Given the description of an element on the screen output the (x, y) to click on. 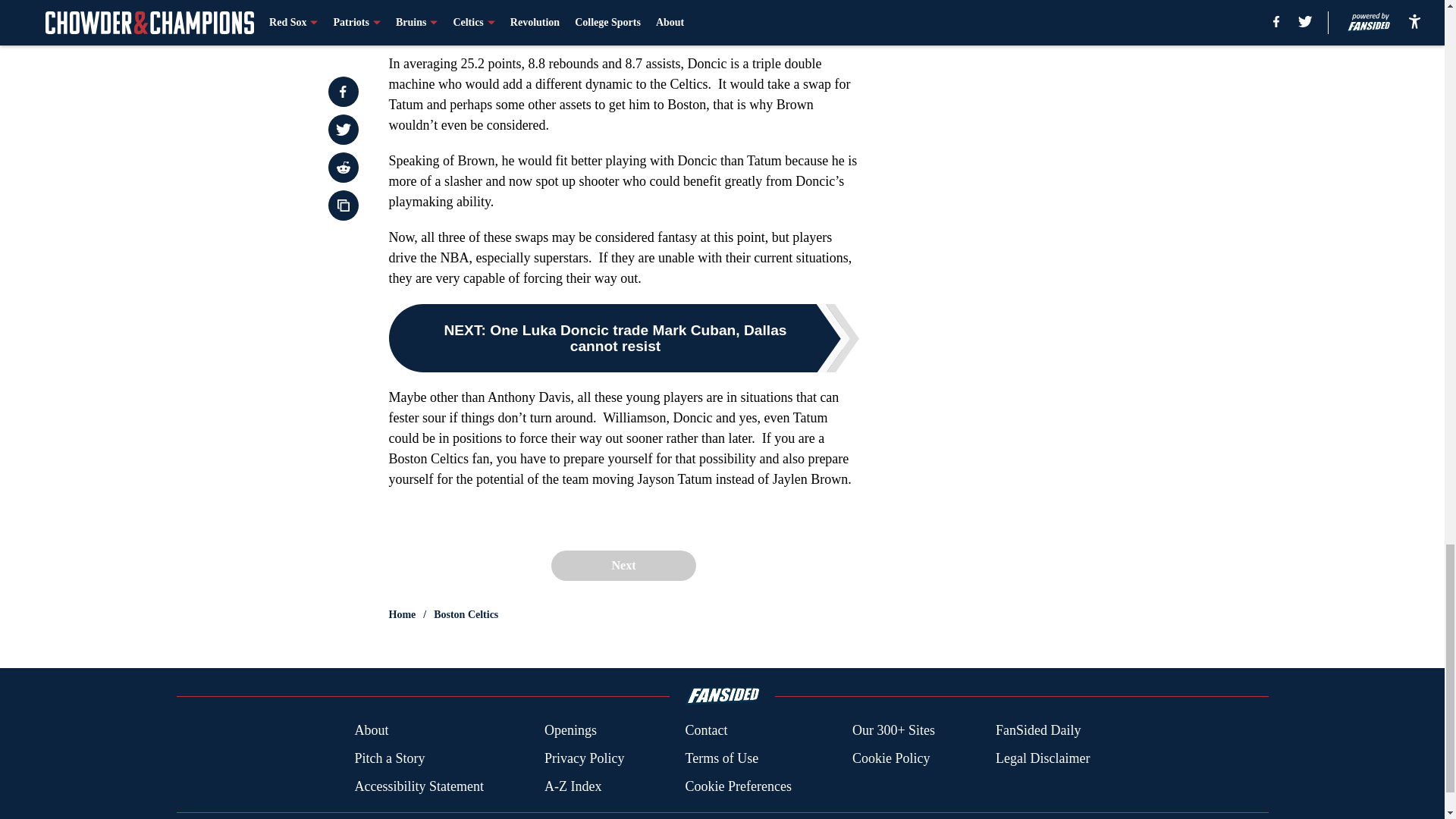
About (370, 730)
Next (622, 565)
NEXT: One Luka Doncic trade Mark Cuban, Dallas cannot resist (623, 337)
Home (401, 614)
Boston Celtics (465, 614)
